Given the description of an element on the screen output the (x, y) to click on. 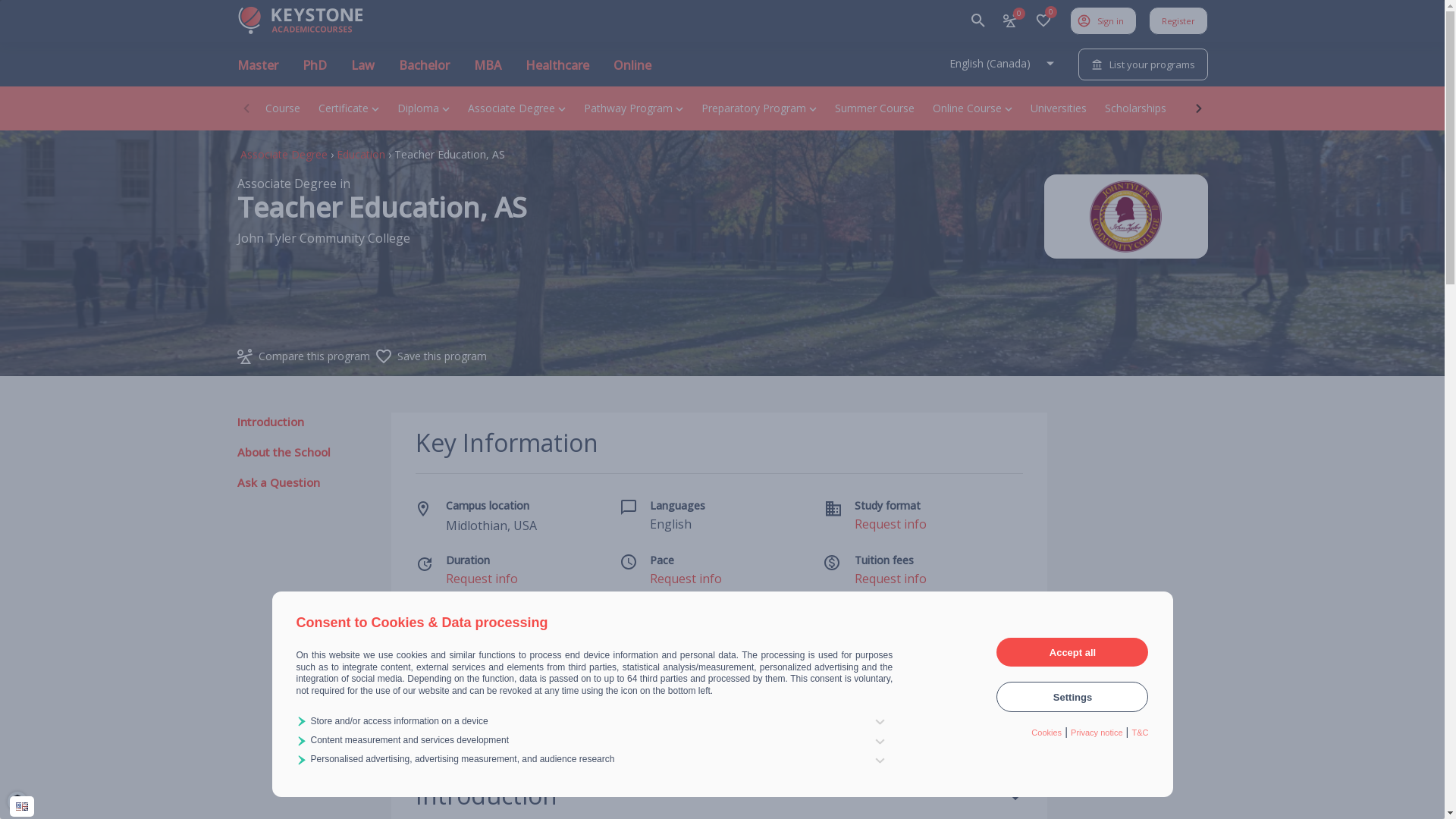
Sign in Element type: text (1102, 20)
0 Element type: text (1042, 20)
Course Element type: text (282, 107)
Read more Element type: text (973, 708)
Compare this program Element type: text (313, 356)
Universities Element type: text (1058, 107)
Bachelor Element type: text (423, 71)
List your programs Element type: text (1143, 64)
Scholarships Element type: text (1135, 107)
Law Element type: text (361, 71)
Register Element type: text (1177, 20)
Associate Degree Element type: text (282, 154)
Master Element type: text (256, 71)
Education Element type: text (360, 154)
About the School Element type: text (282, 451)
Online Element type: text (631, 71)
0 Element type: text (1009, 20)
PhD Element type: text (313, 71)
MBA Element type: text (486, 71)
Introduction Element type: text (269, 421)
Ask a Question Element type: text (277, 481)
Save this program Element type: text (441, 356)
Healthcare Element type: text (556, 71)
Summer Course Element type: text (874, 107)
